Given the description of an element on the screen output the (x, y) to click on. 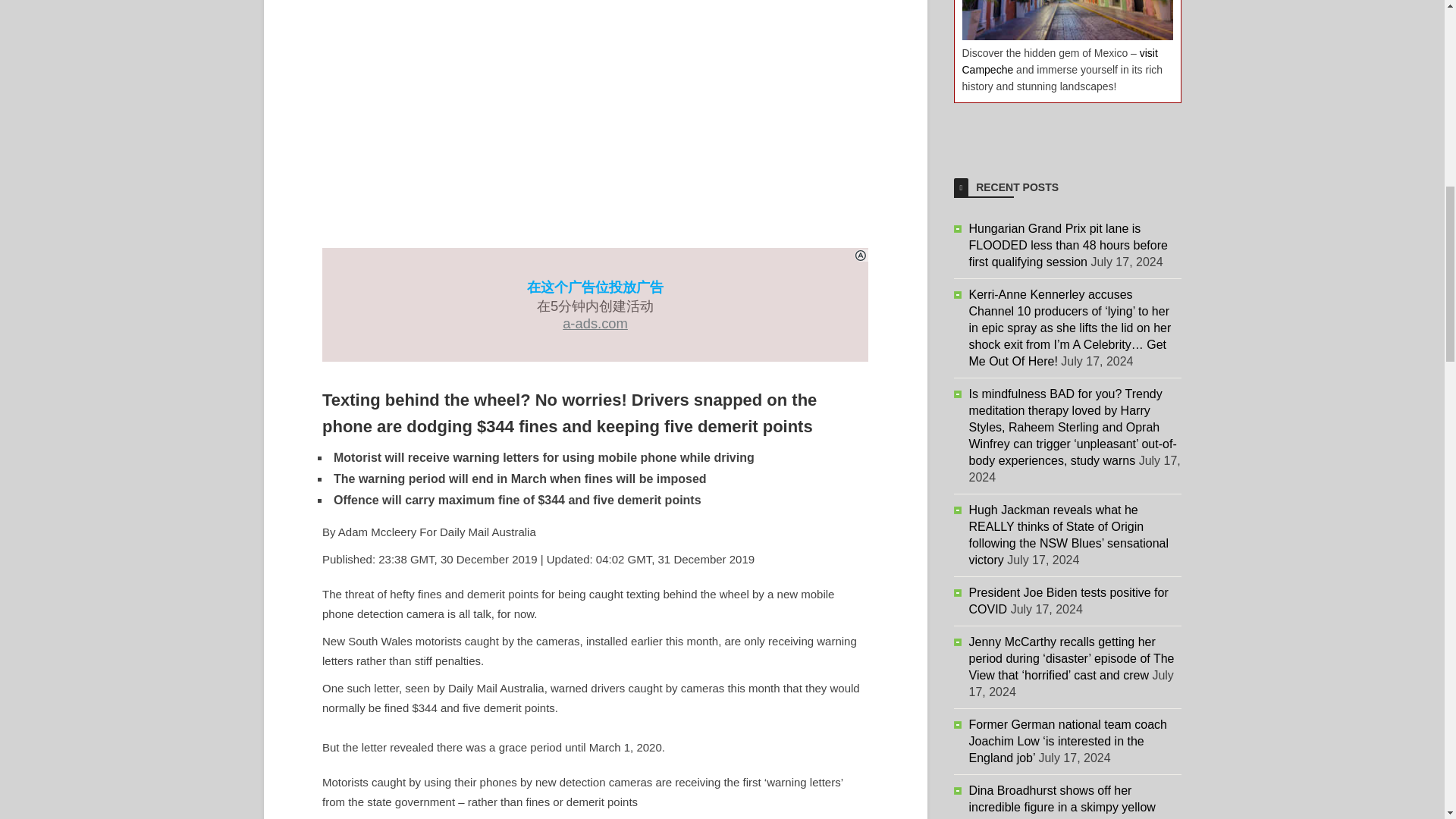
President Joe Biden tests positive for COVID (1069, 600)
visit Campeche (1058, 61)
